Given the description of an element on the screen output the (x, y) to click on. 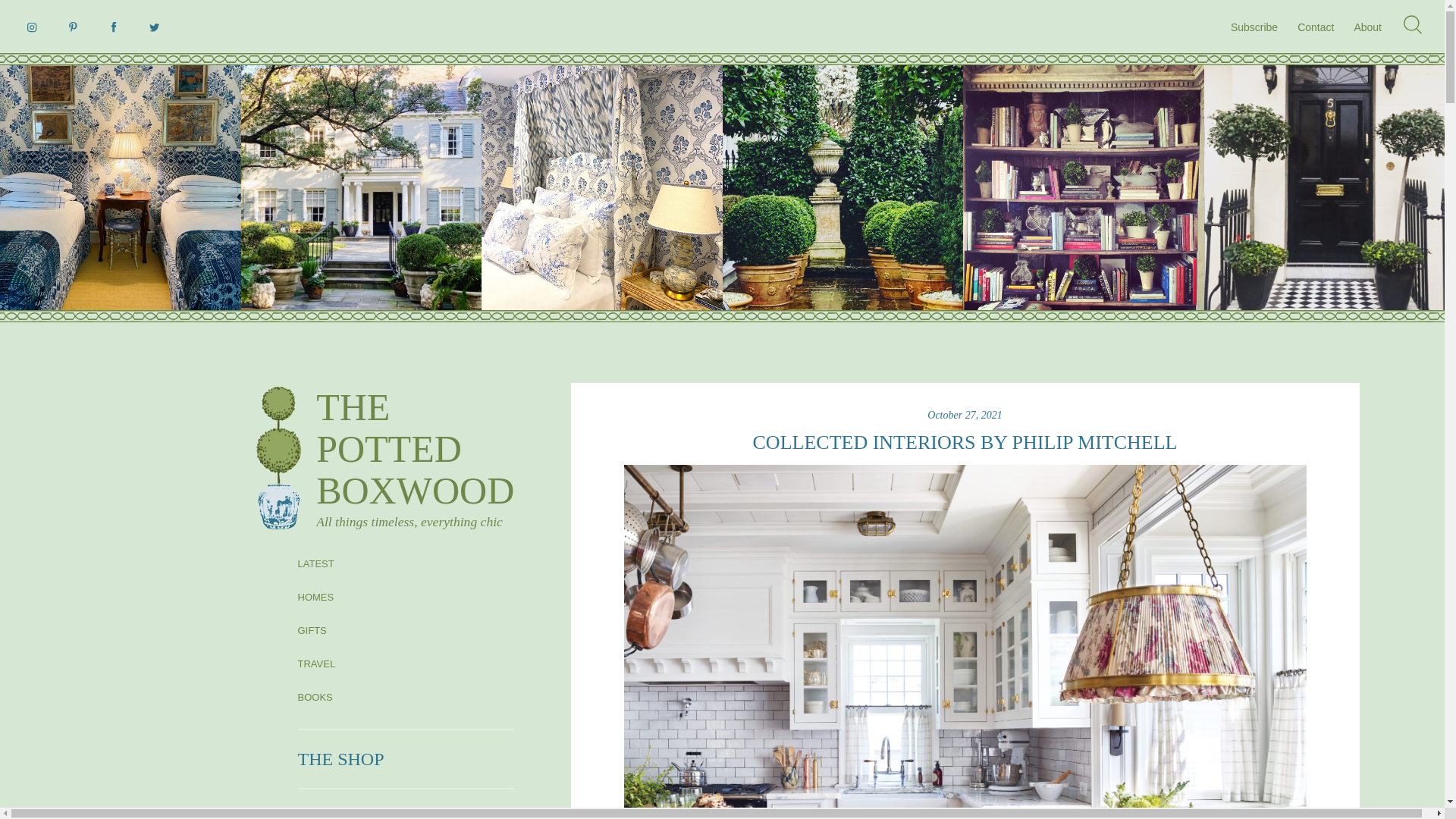
Subscribe (1254, 27)
THE SHOP (340, 759)
About (1367, 27)
HOMES (315, 596)
Twitter (154, 27)
Facebook (113, 27)
Contact (1315, 27)
GIFTS (311, 630)
LATEST (315, 563)
TRAVEL (315, 663)
Pintrest (390, 458)
BOOKS (72, 27)
Instagram (314, 696)
